Given the description of an element on the screen output the (x, y) to click on. 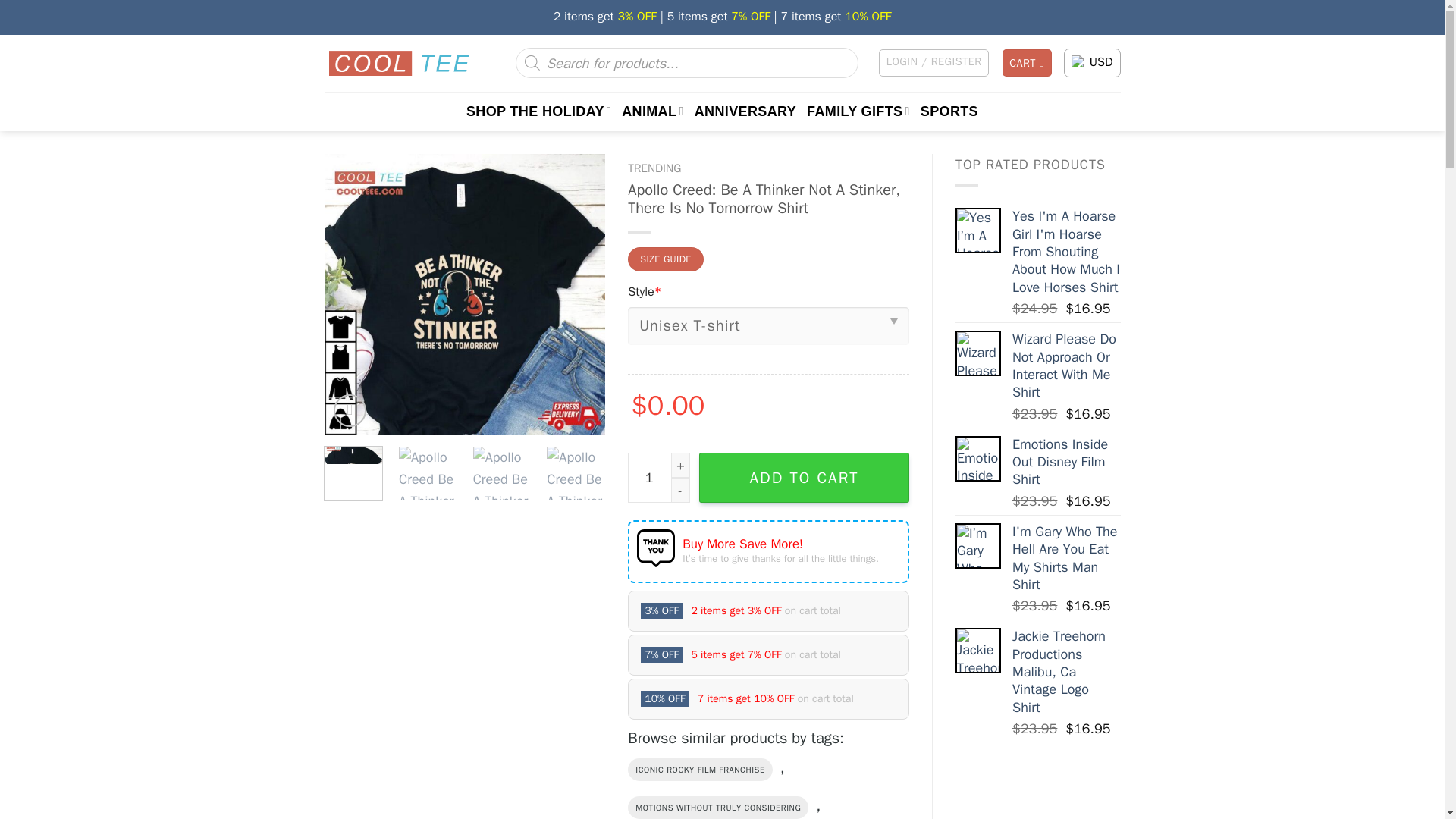
SIZE GUIDE (665, 259)
Emotions Inside Out Disney Film Shirt (978, 458)
Wizard Please Do Not Approach Or Interact With Me Shirt (978, 352)
TRENDING (654, 168)
Cart (1027, 62)
SHOP THE HOLIDAY (538, 111)
Jackie Treehorn Productions Malibu, Ca Vintage Logo Shirt (1066, 672)
I'm Gary Who The Hell Are You Eat My Shirts Man Shirt (1066, 558)
Zoom (349, 410)
Emotions Inside Out Disney Film Shirt (1066, 461)
CART (1027, 62)
ANIMAL (652, 111)
Jackie Treehorn Productions Malibu, Ca Vintage Logo Shirt (978, 650)
